Given the description of an element on the screen output the (x, y) to click on. 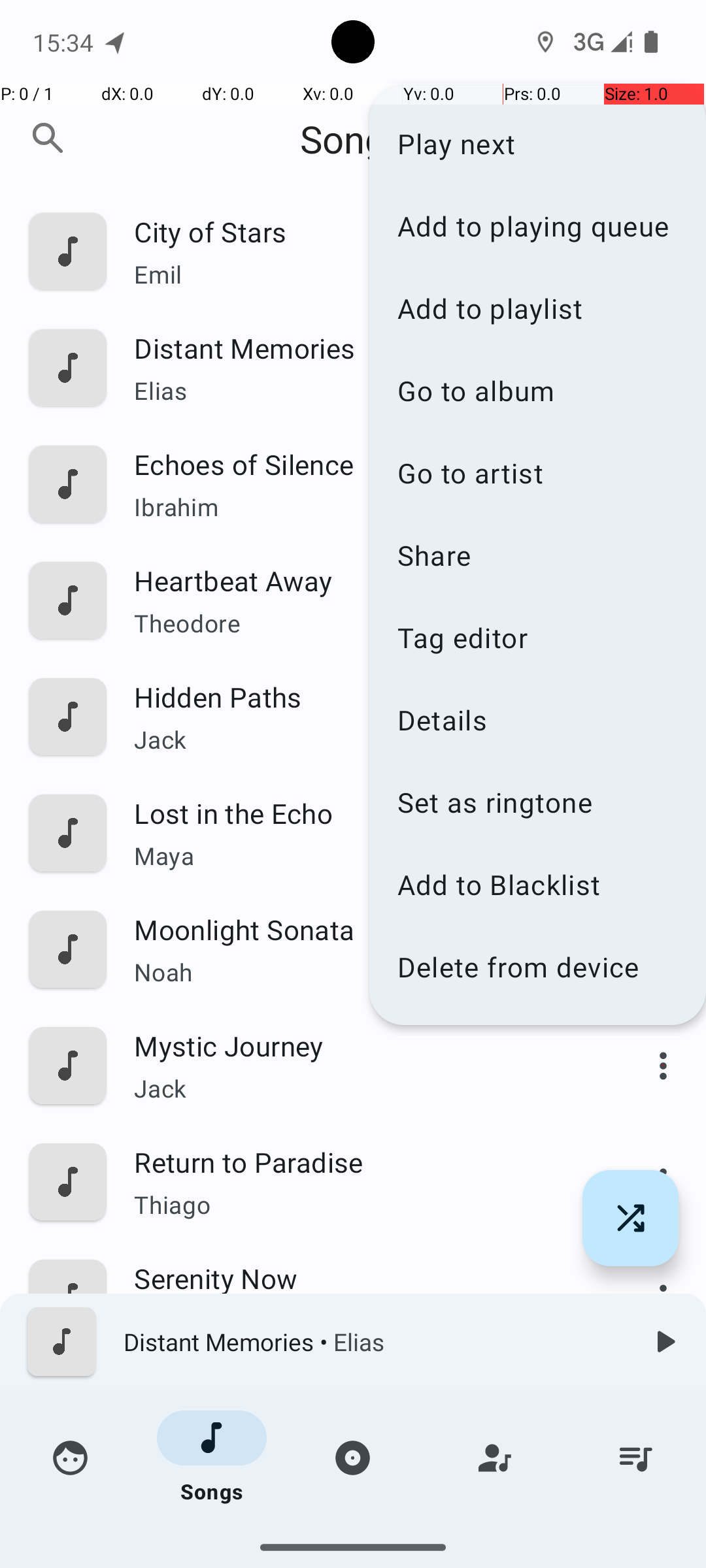
Play next Element type: android.widget.TextView (537, 143)
Add to playing queue Element type: android.widget.TextView (537, 225)
Add to playlist Element type: android.widget.TextView (537, 307)
Go to album Element type: android.widget.TextView (537, 389)
Go to artist Element type: android.widget.TextView (537, 472)
Tag editor Element type: android.widget.TextView (537, 636)
Details Element type: android.widget.TextView (537, 719)
Set as ringtone Element type: android.widget.TextView (537, 801)
Add to Blacklist Element type: android.widget.TextView (537, 883)
Delete from device Element type: android.widget.TextView (537, 966)
